Given the description of an element on the screen output the (x, y) to click on. 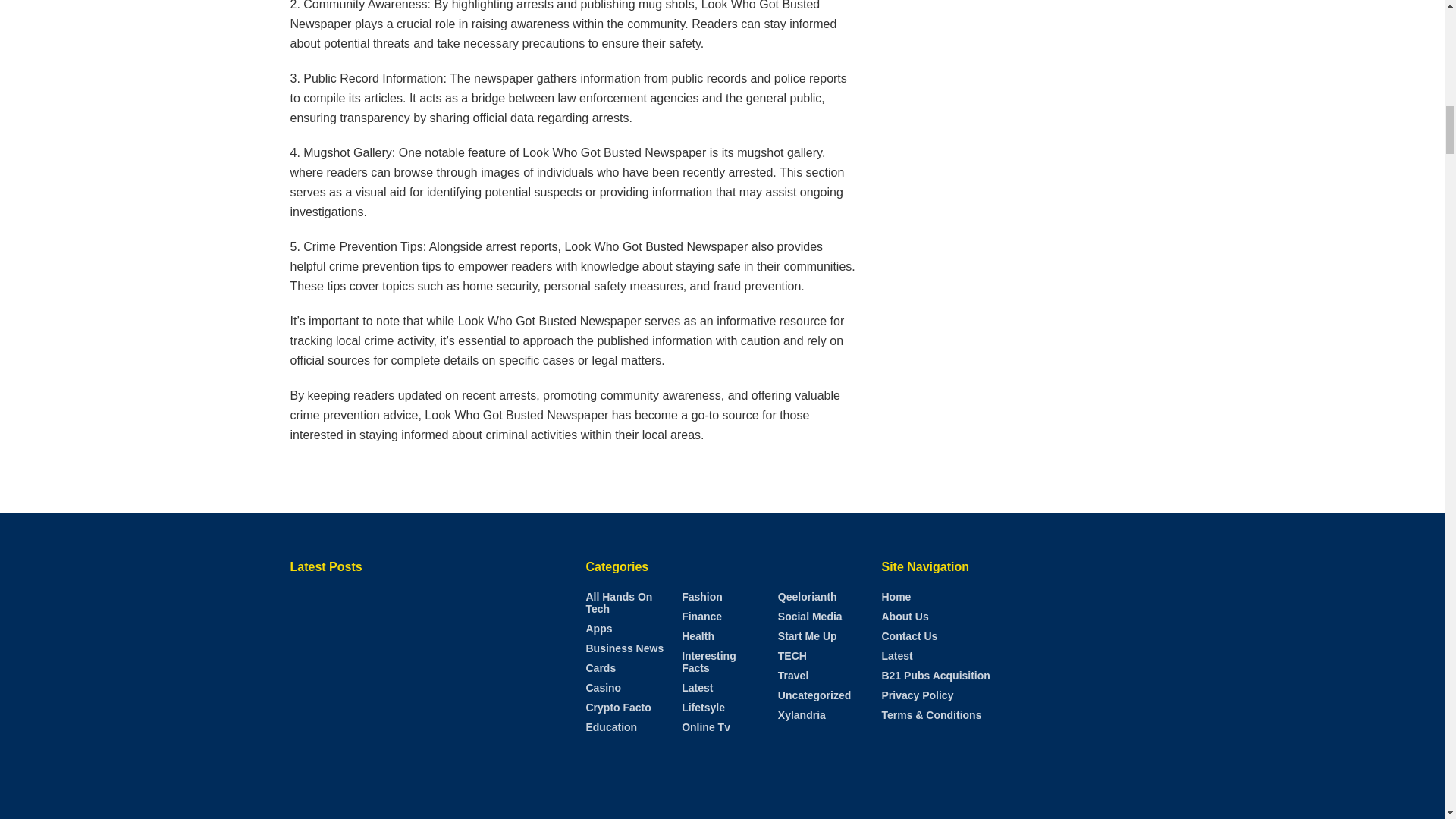
Latest Posts (425, 688)
